Given the description of an element on the screen output the (x, y) to click on. 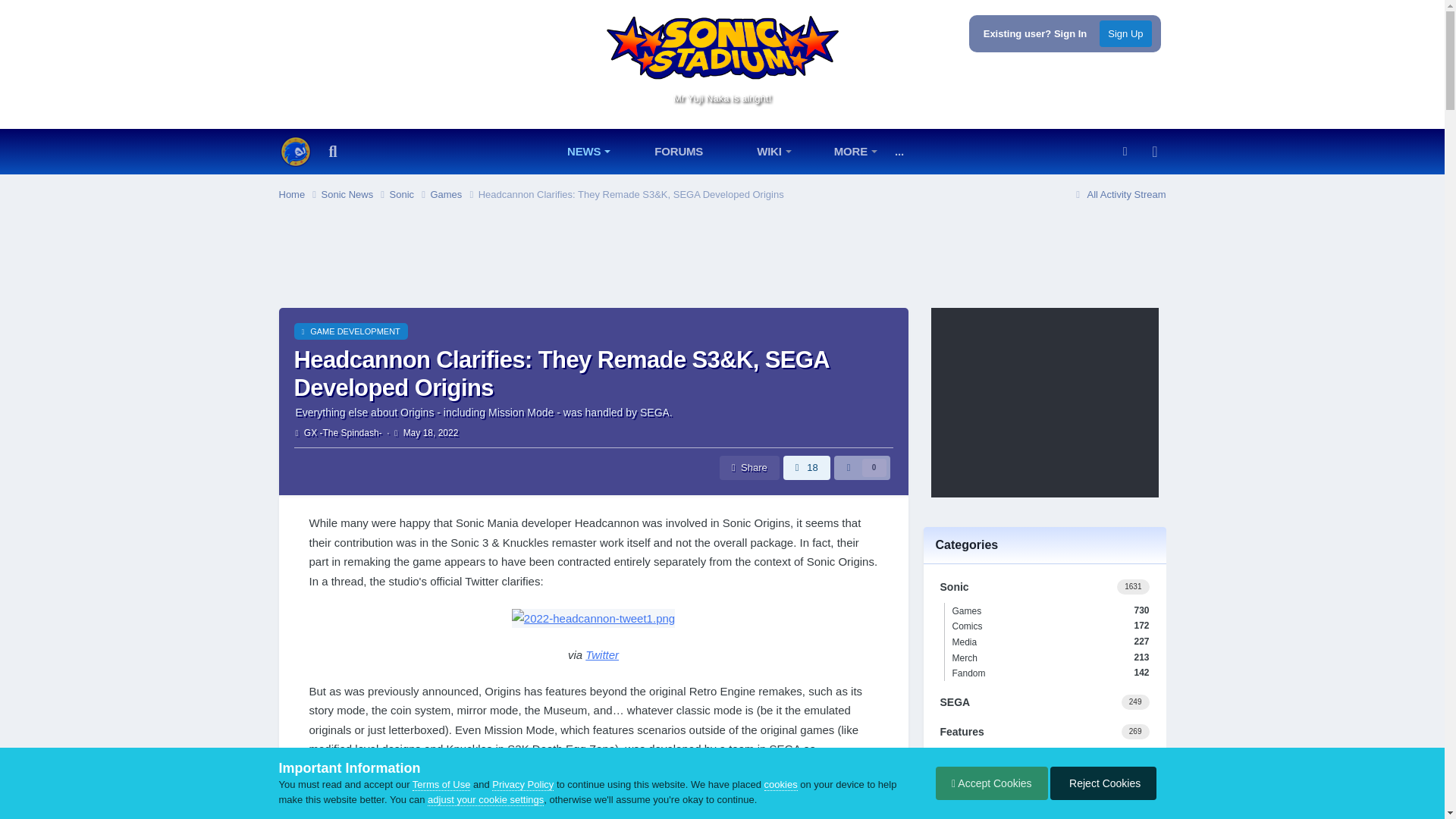
NEWS (573, 151)
Existing user? Sign In (1035, 33)
68 (1103, 189)
Try Our New Homepage... (295, 151)
Sign Up (1125, 33)
